Given the description of an element on the screen output the (x, y) to click on. 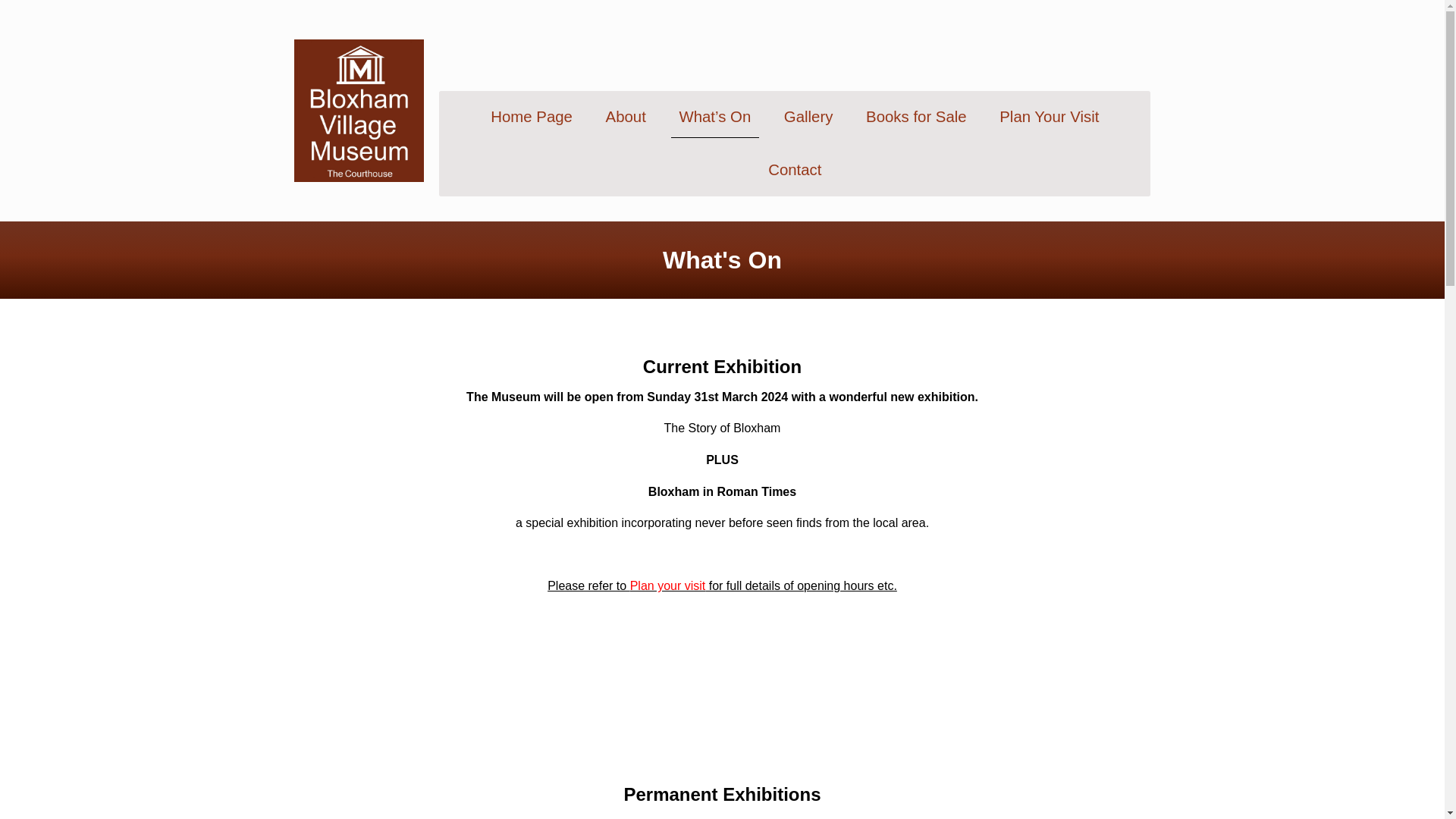
Plan your visit (668, 585)
Plan Your Visit (1048, 116)
Gallery (808, 116)
Contact (794, 169)
Home Page (531, 116)
Books for Sale (916, 116)
